Given the description of an element on the screen output the (x, y) to click on. 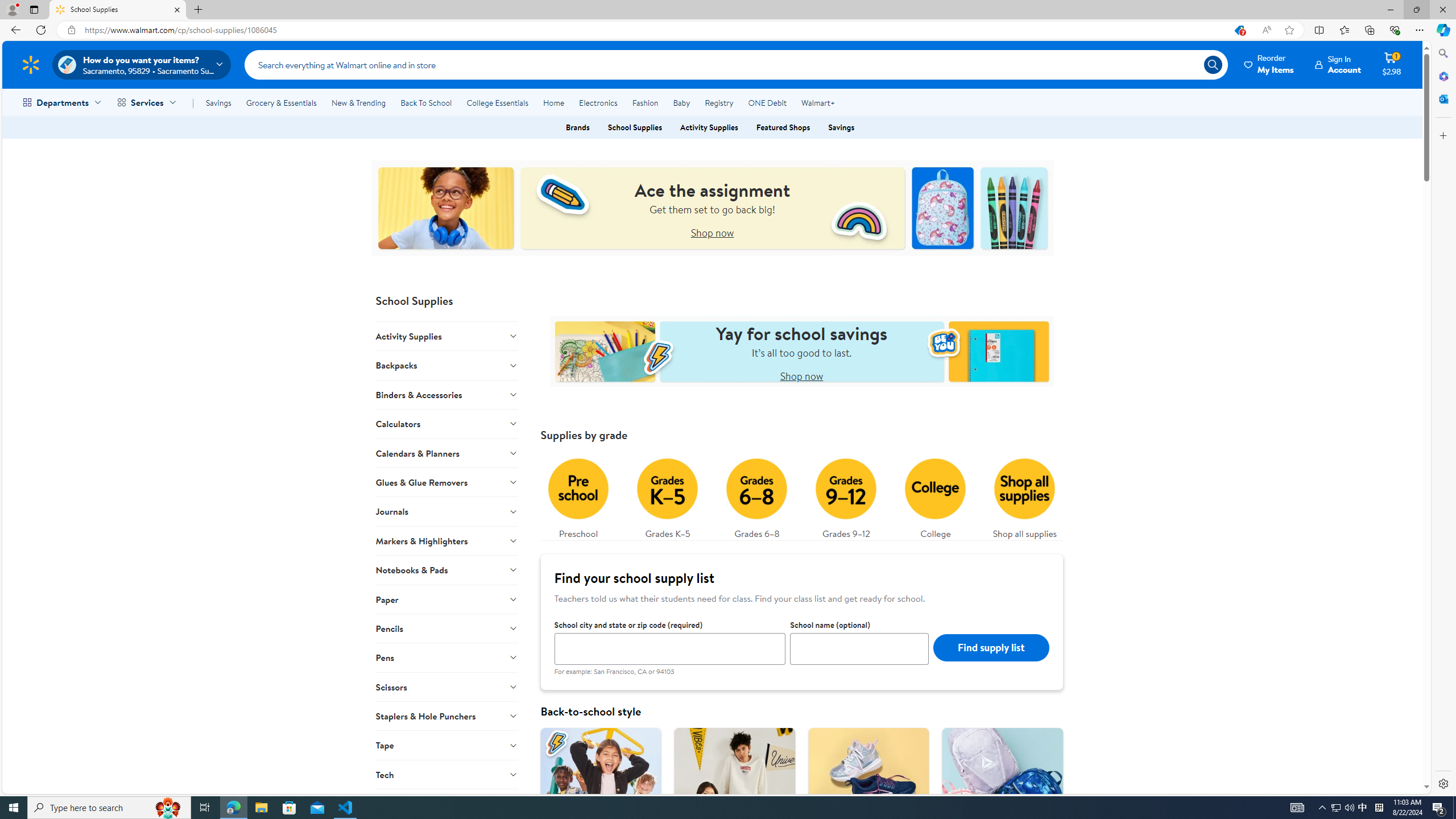
School city and state or zip code (required) (669, 648)
Binders & Accessories (446, 394)
Electronics (598, 102)
Paper (446, 598)
Cart contains 1 item Total Amount $2.98 (1391, 64)
